Given the description of an element on the screen output the (x, y) to click on. 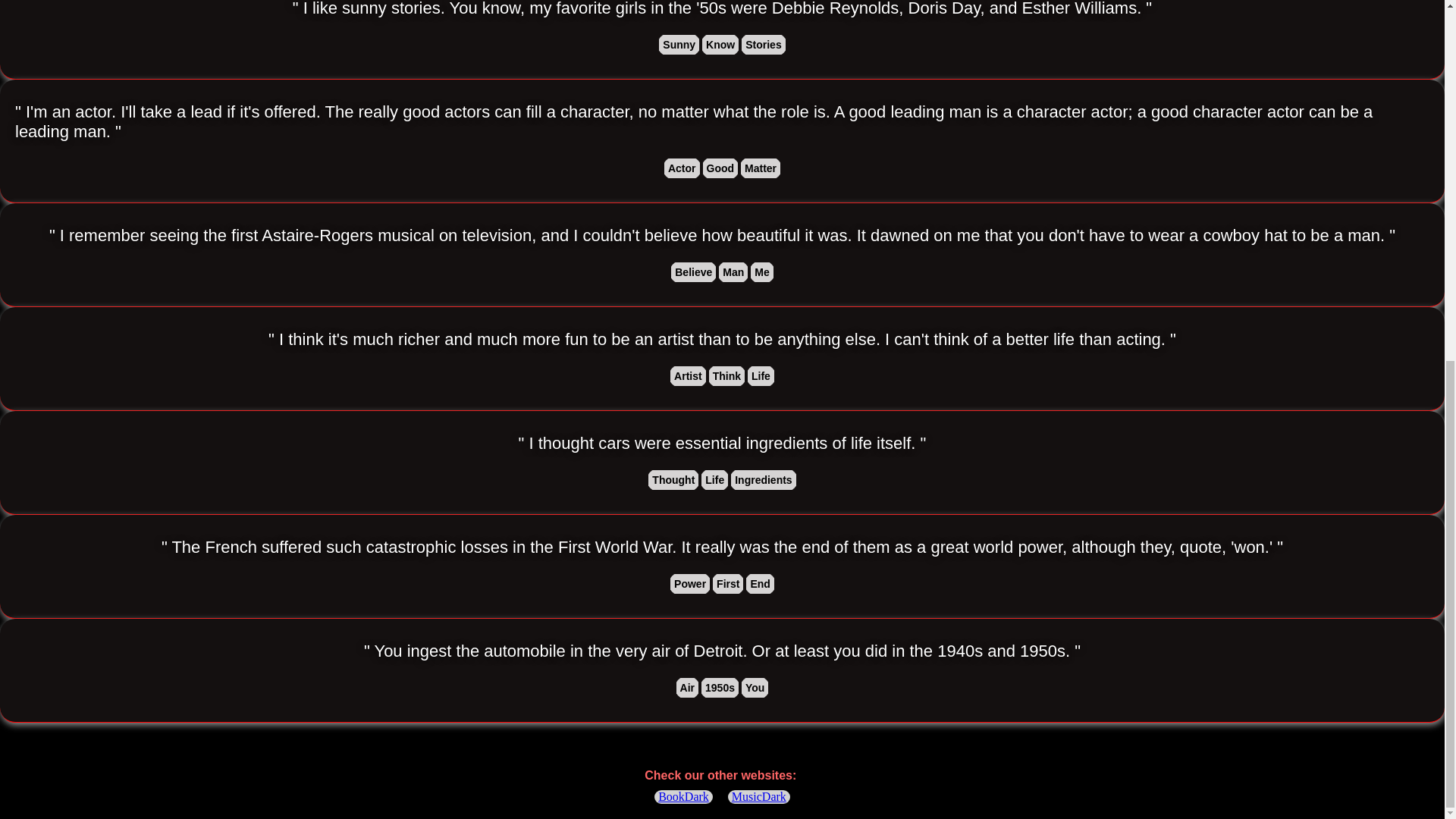
Artist (687, 375)
Actor (681, 168)
Sunny (679, 44)
Good (719, 168)
Think (726, 375)
Believe (693, 272)
Life (760, 375)
Thought (673, 479)
Matter (760, 168)
Me (761, 272)
Stories (762, 44)
